Given the description of an element on the screen output the (x, y) to click on. 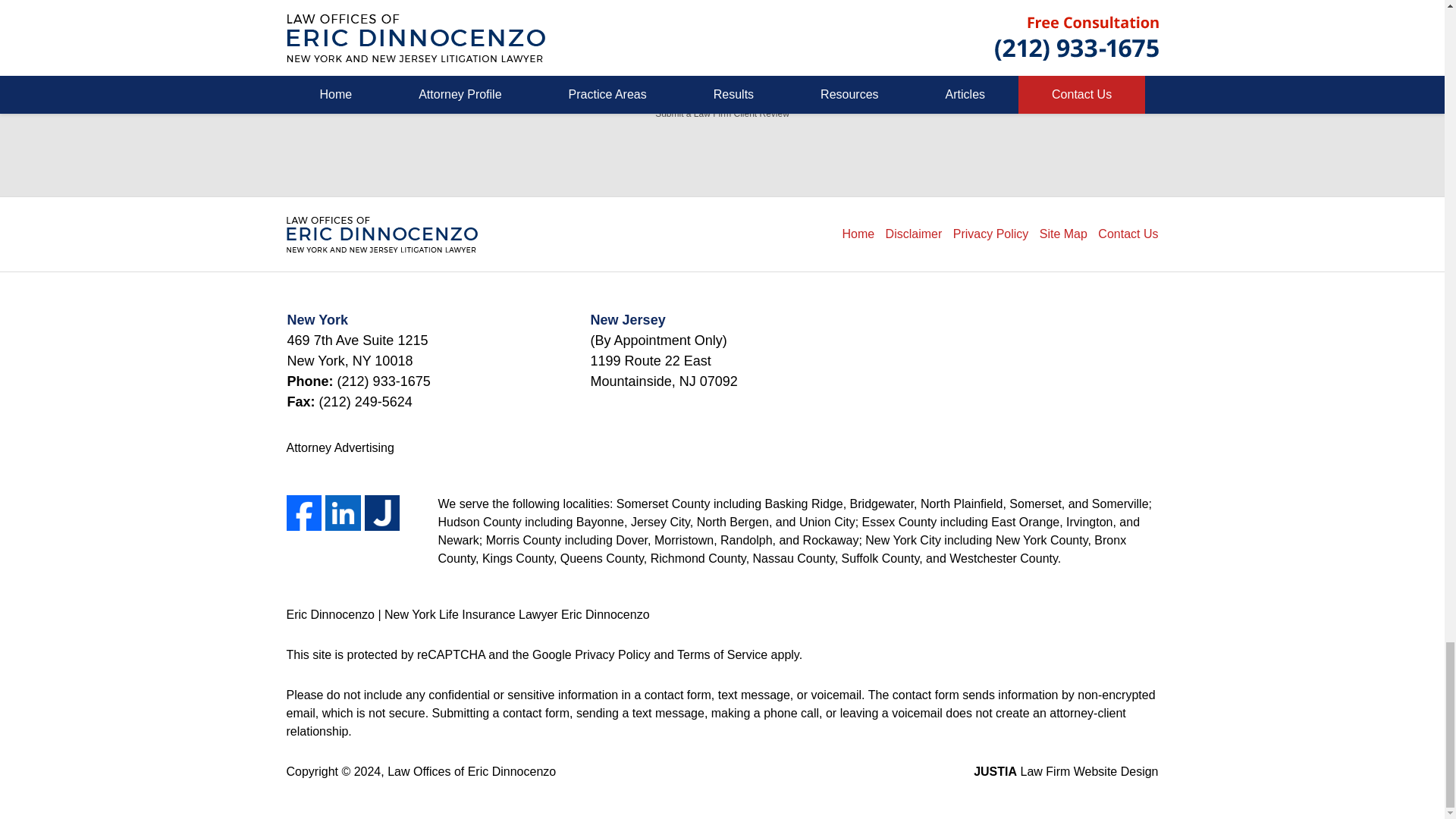
Facebook (303, 512)
Justia (382, 512)
LinkedIn (342, 512)
